Given the description of an element on the screen output the (x, y) to click on. 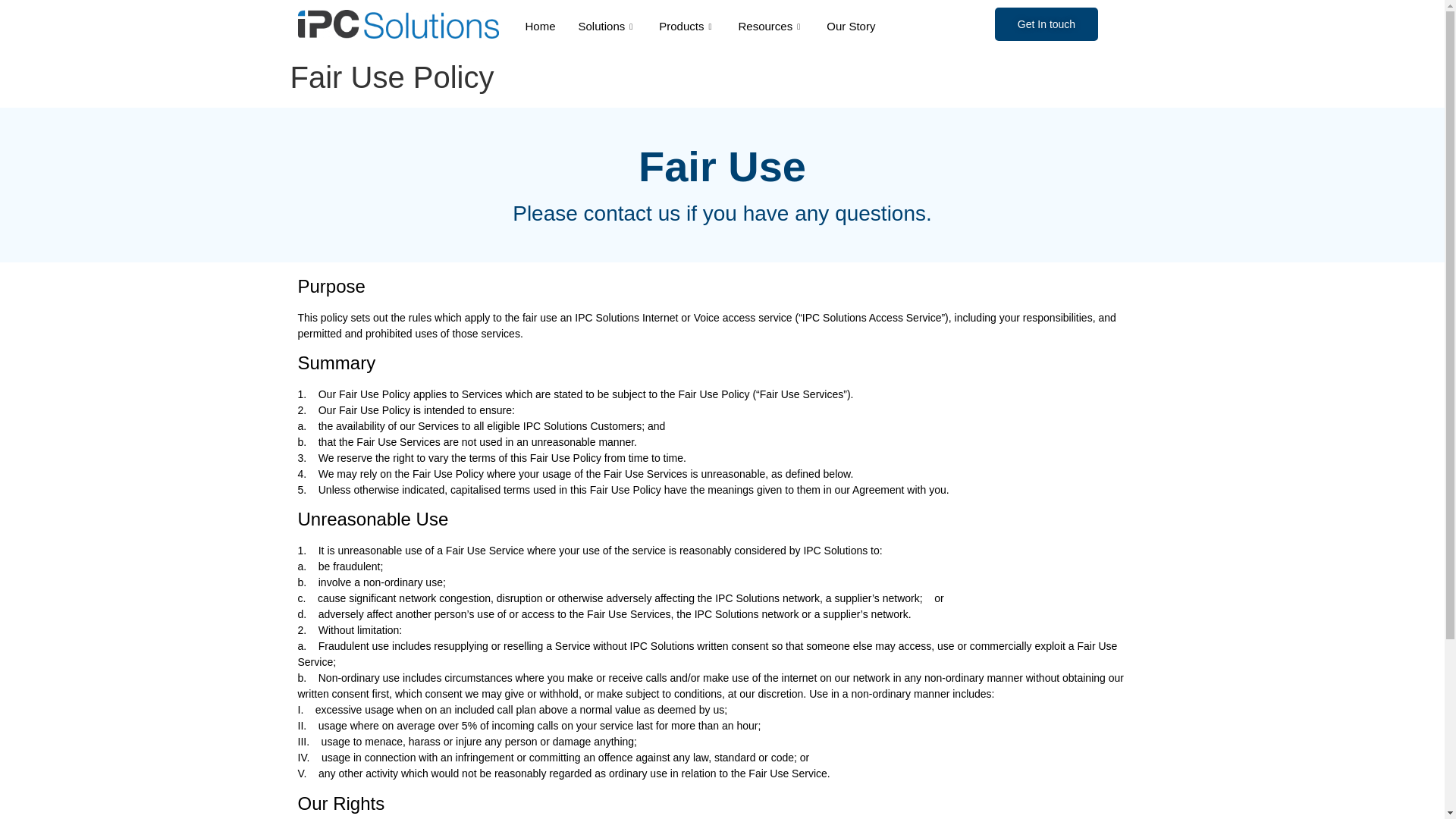
Resources (770, 26)
Products (686, 26)
Our Story (850, 26)
Solutions (607, 26)
Home (540, 26)
